Given the description of an element on the screen output the (x, y) to click on. 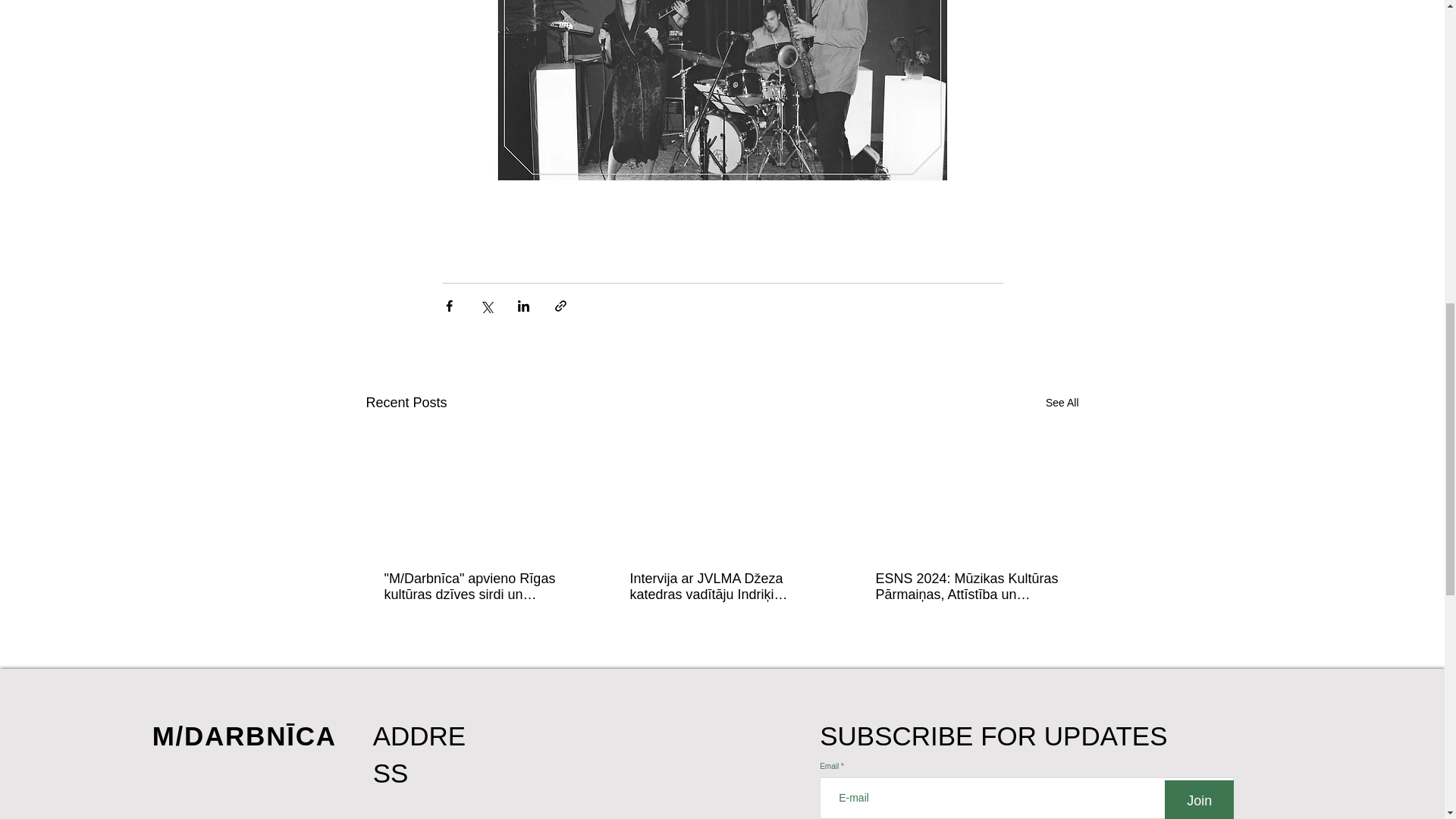
Join (1198, 799)
ADDRESS (418, 754)
See All (1061, 403)
